Given the description of an element on the screen output the (x, y) to click on. 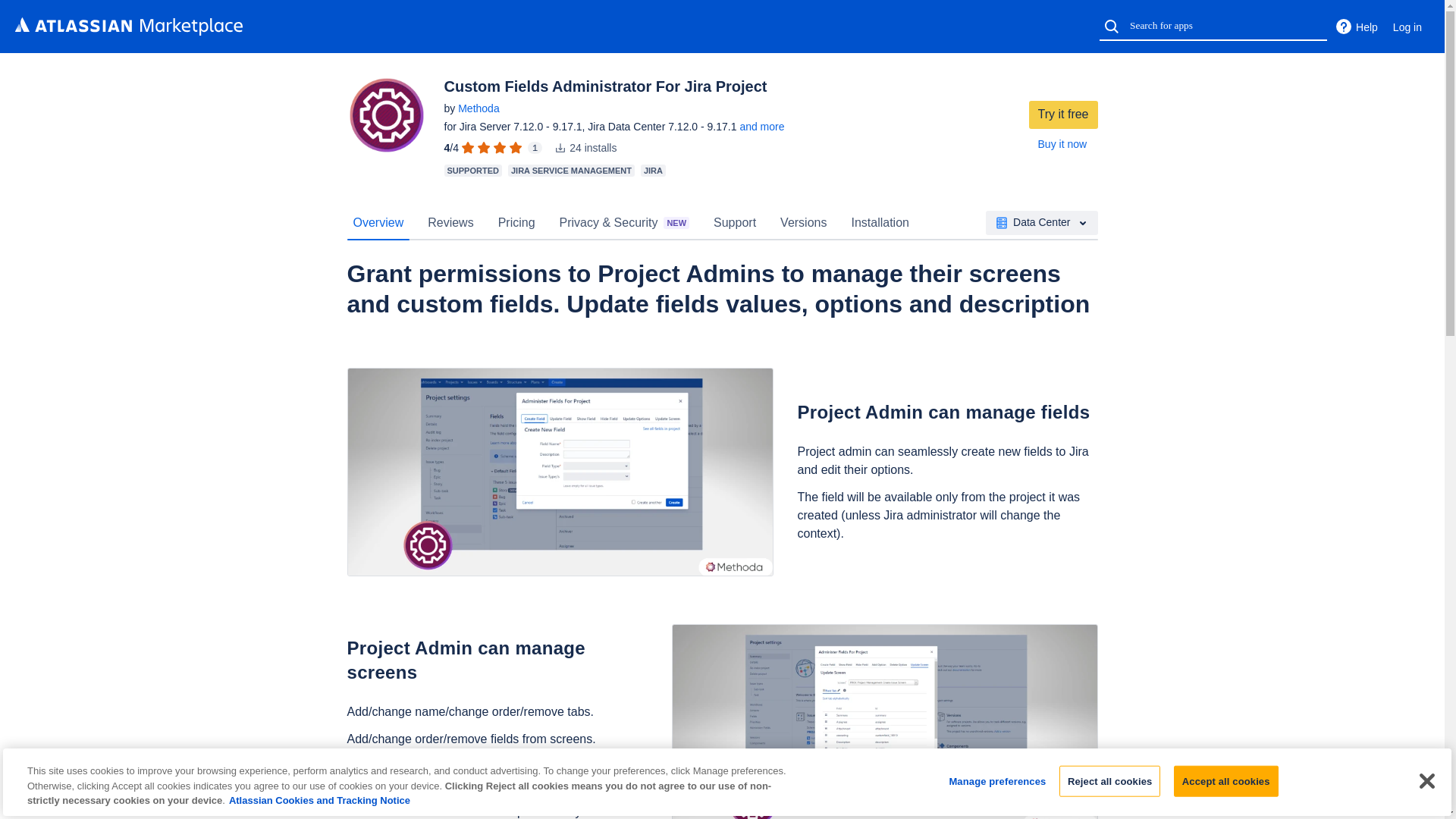
Reject all cookies (1109, 780)
View version history for more details (761, 126)
and more (761, 126)
Help (1356, 26)
Try it free (1063, 114)
Manage preferences (997, 780)
Buy it now (1062, 144)
Atlassian Cookies and Tracking Notice (319, 799)
Atlassian Marketplace (128, 26)
Data Center (1041, 222)
Accept all cookies (1225, 780)
Log in (1407, 26)
Methoda (478, 108)
